Given the description of an element on the screen output the (x, y) to click on. 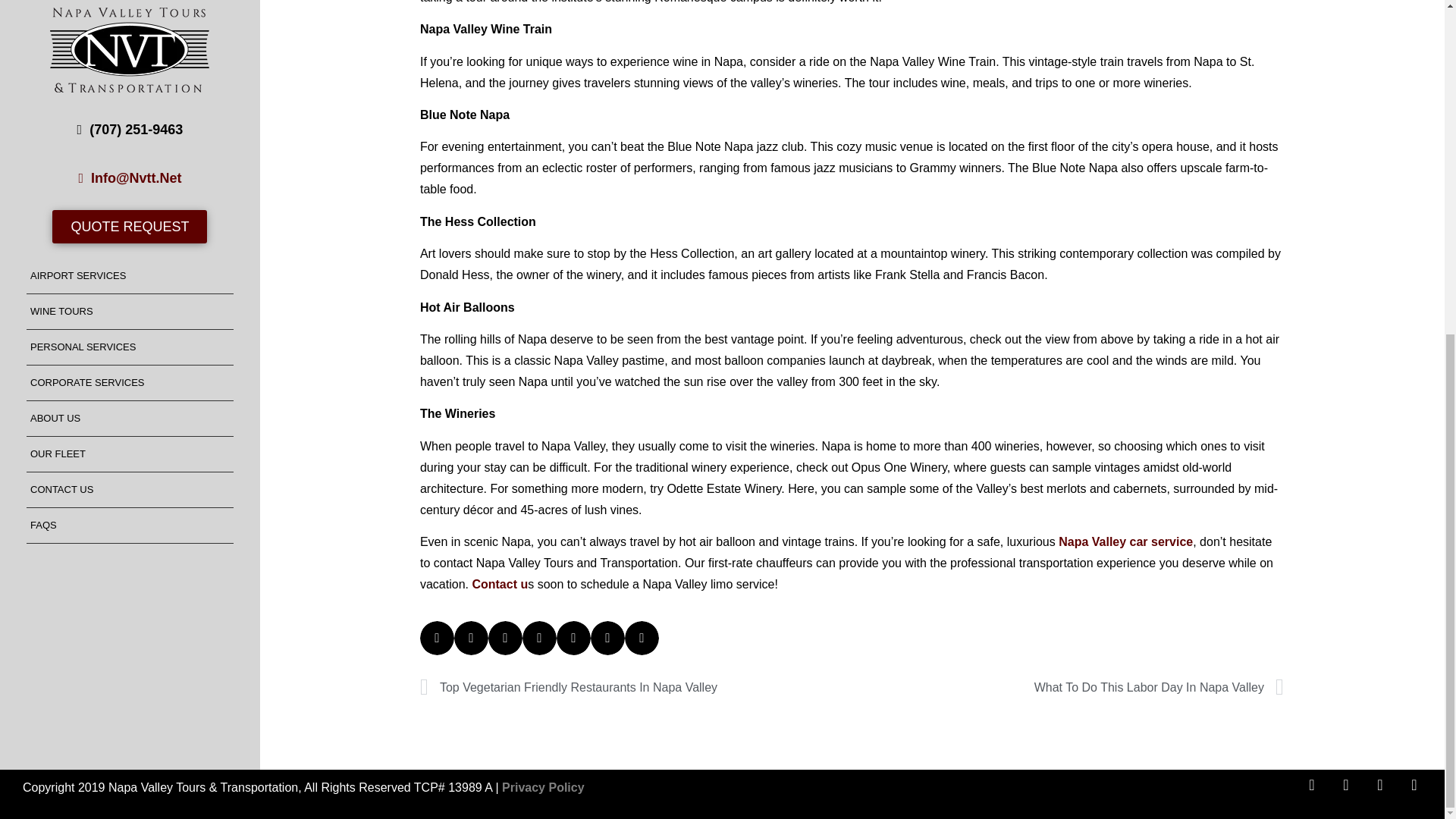
review-widget (168, 151)
